Given the description of an element on the screen output the (x, y) to click on. 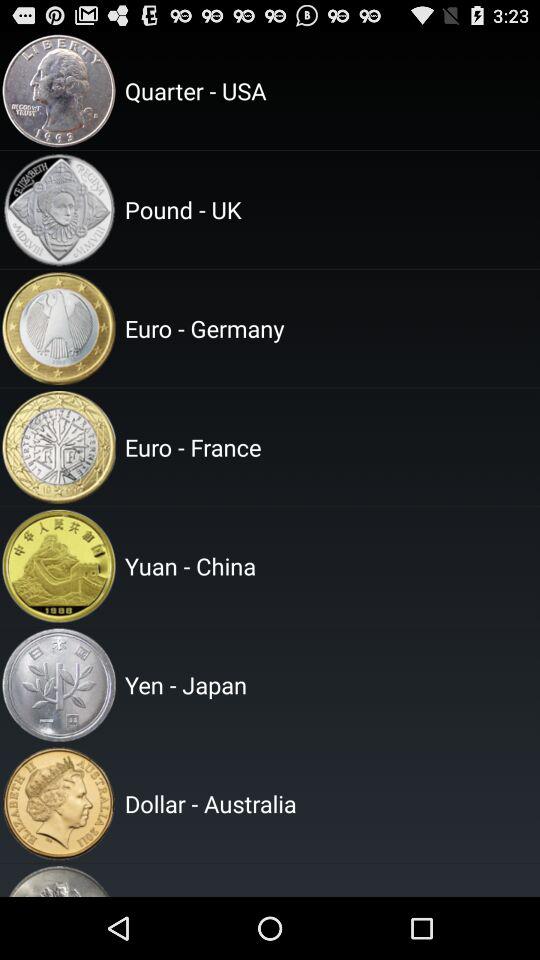
open the dollar - australia item (329, 803)
